Given the description of an element on the screen output the (x, y) to click on. 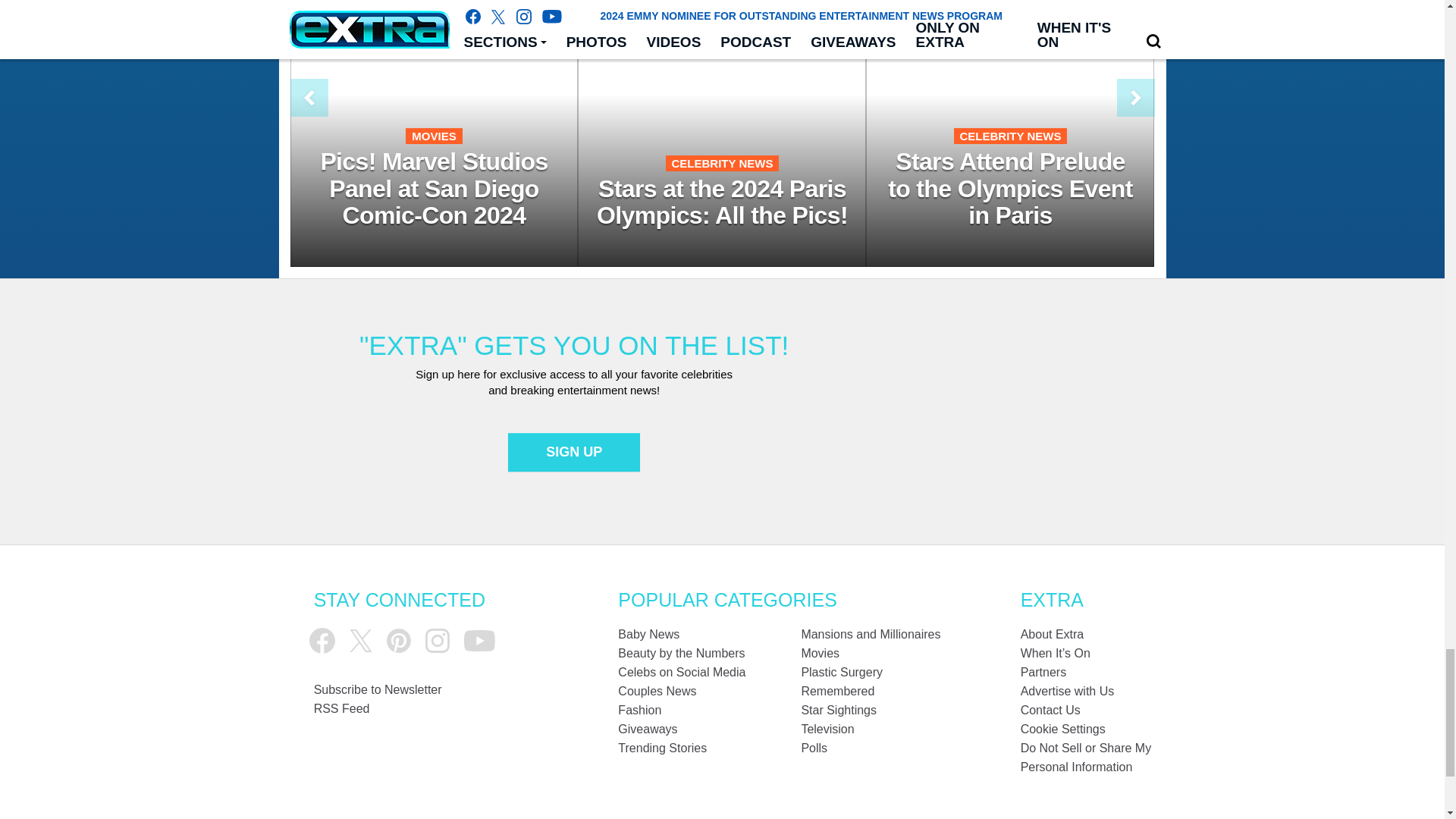
YouTube (479, 640)
Pinterest (398, 640)
Facebook (321, 640)
Instagram (437, 640)
Twitter (360, 640)
